Given the description of an element on the screen output the (x, y) to click on. 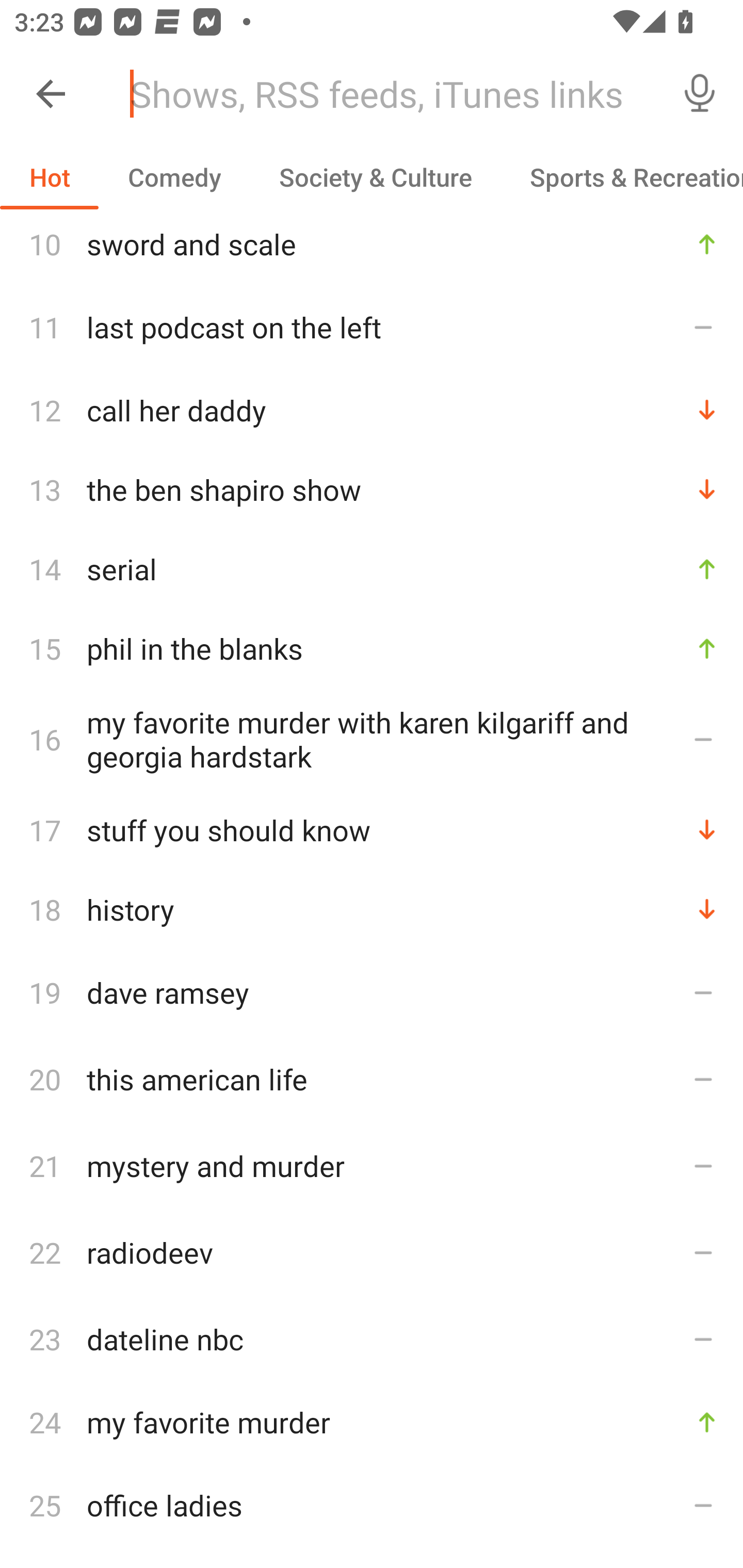
Collapse (50, 93)
Voice Search (699, 93)
Shows, RSS feeds, iTunes links (385, 94)
Hot (49, 177)
Comedy (173, 177)
Society & Culture (374, 177)
Sports & Recreation (621, 177)
10 sword and scale (371, 246)
11 last podcast on the left (371, 326)
12 call her daddy (371, 410)
13 the ben shapiro show (371, 489)
14 serial (371, 568)
15 phil in the blanks (371, 648)
17 stuff you should know (371, 830)
18 history (371, 909)
19 dave ramsey (371, 992)
20 this american life (371, 1079)
21 mystery and murder (371, 1165)
22 radiodeev (371, 1251)
23 dateline nbc (371, 1338)
24 my favorite murder (371, 1421)
25 office ladies (371, 1505)
